Given the description of an element on the screen output the (x, y) to click on. 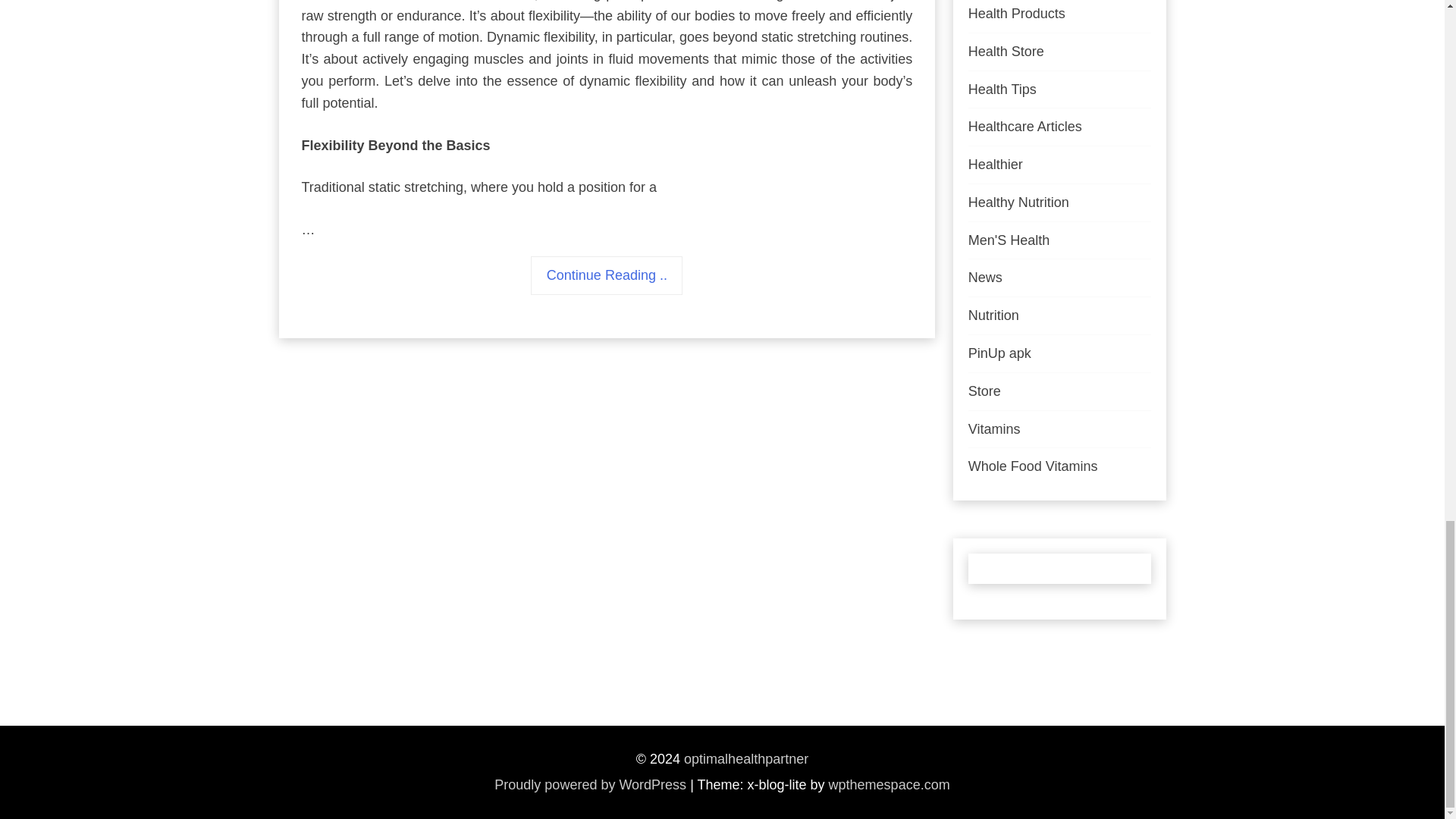
Continue Reading .. (606, 275)
